Given the description of an element on the screen output the (x, y) to click on. 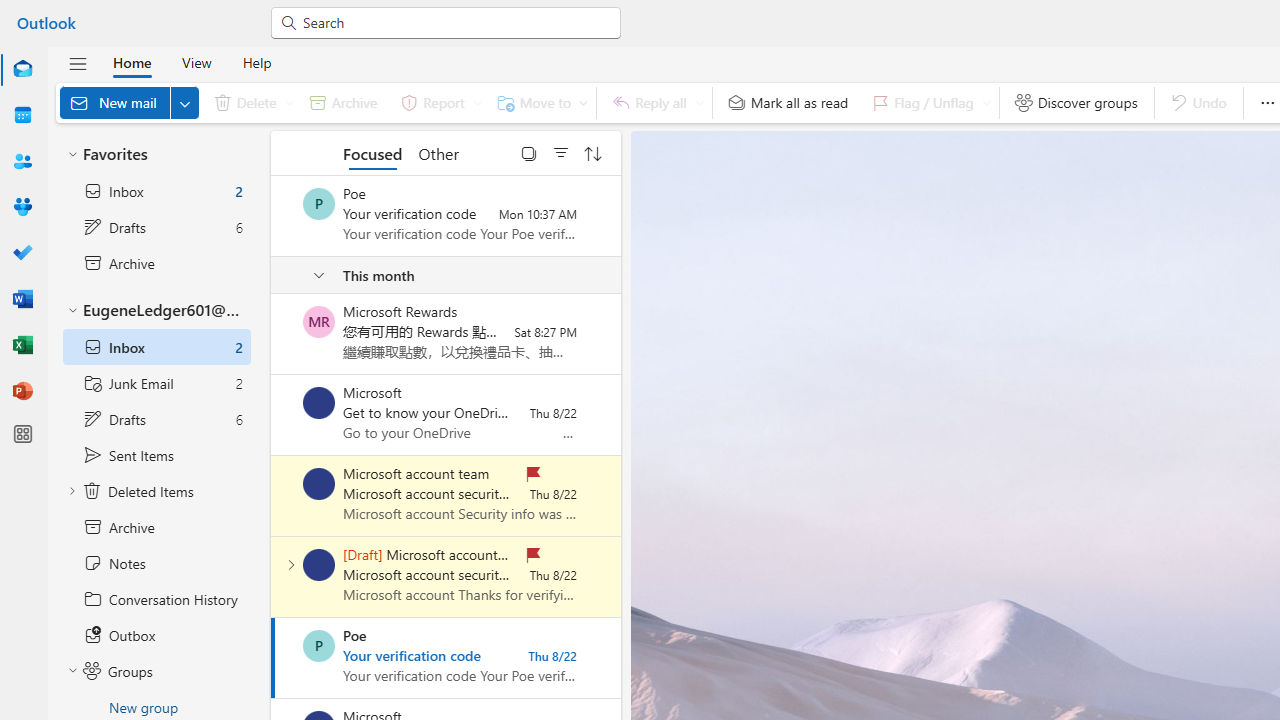
Search for email, meetings, files and more. (454, 21)
Expand to see more report options (477, 102)
PowerPoint (22, 390)
Flag / Unflag (927, 102)
Groups (22, 207)
Sorted: By Date (593, 152)
Focused (372, 152)
Home (132, 61)
Filter (561, 152)
Expand to see more respond options (699, 102)
Mark as unread (273, 577)
To Do (22, 254)
